Given the description of an element on the screen output the (x, y) to click on. 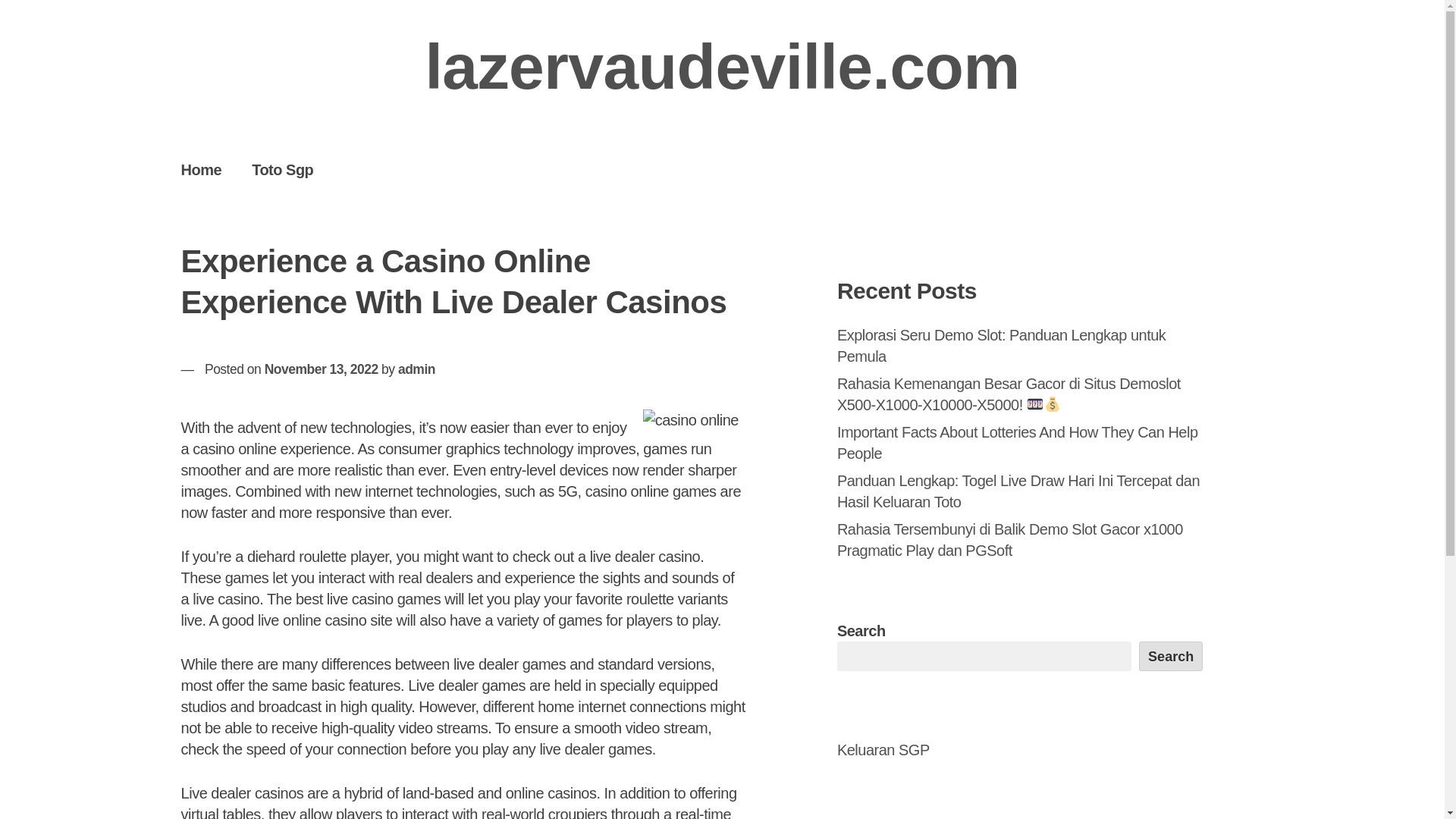
November 13, 2022 (321, 368)
Keluaran SGP (883, 750)
admin (416, 368)
Search (1171, 655)
lazervaudeville.com (722, 66)
Home (201, 169)
Important Facts About Lotteries And How They Can Help People (1017, 442)
Explorasi Seru Demo Slot: Panduan Lengkap untuk Pemula (1001, 345)
Toto Sgp (282, 169)
